Given the description of an element on the screen output the (x, y) to click on. 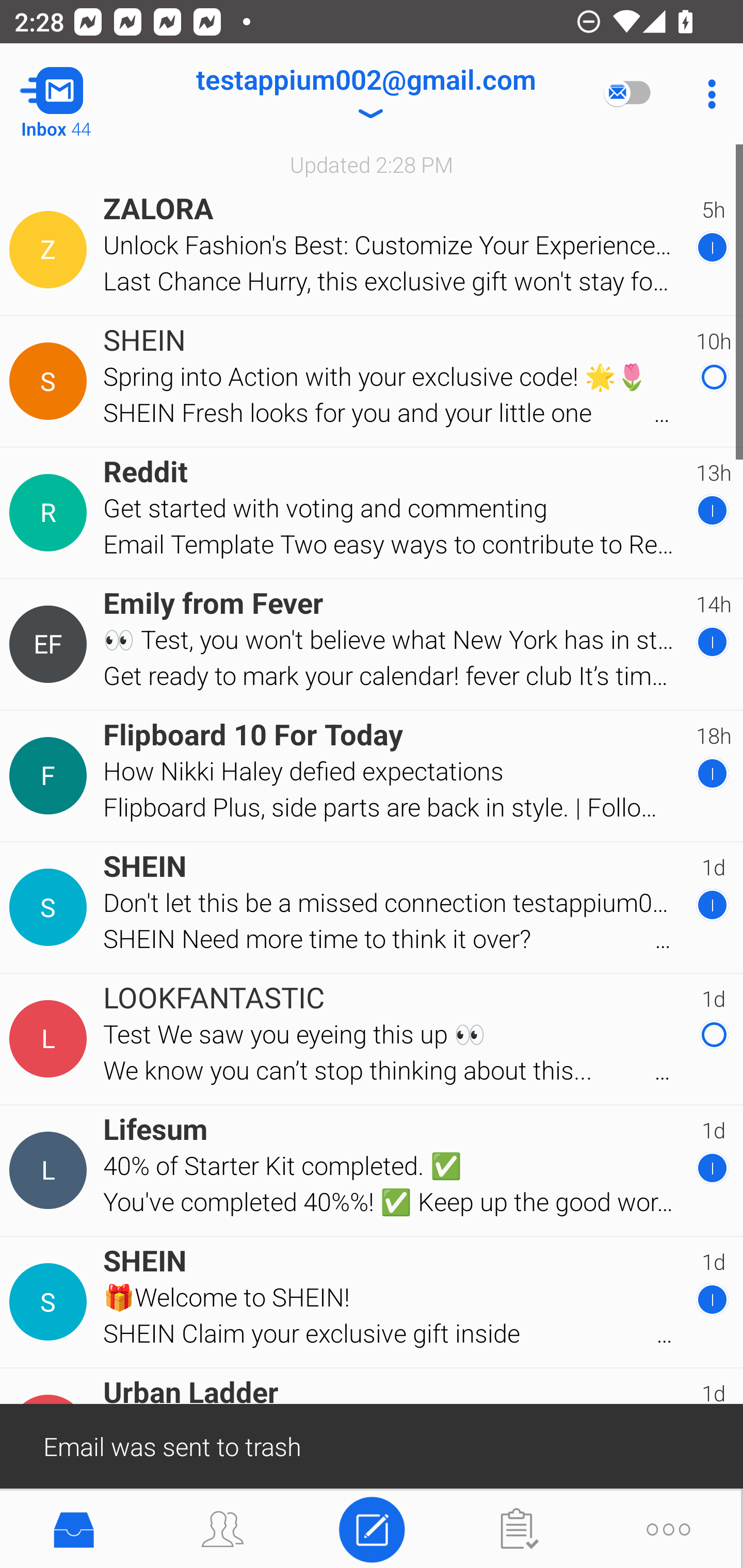
Navigate up (81, 93)
testappium002@gmail.com (365, 93)
More Options (706, 93)
Updated 2:28 PM (371, 164)
Contact Details (50, 250)
Contact Details (50, 381)
Contact Details (50, 513)
Contact Details (50, 644)
Contact Details (50, 776)
Contact Details (50, 907)
Contact Details (50, 1038)
Contact Details (50, 1170)
Contact Details (50, 1302)
Email was sent to trash (371, 1445)
Compose (371, 1528)
